Given the description of an element on the screen output the (x, y) to click on. 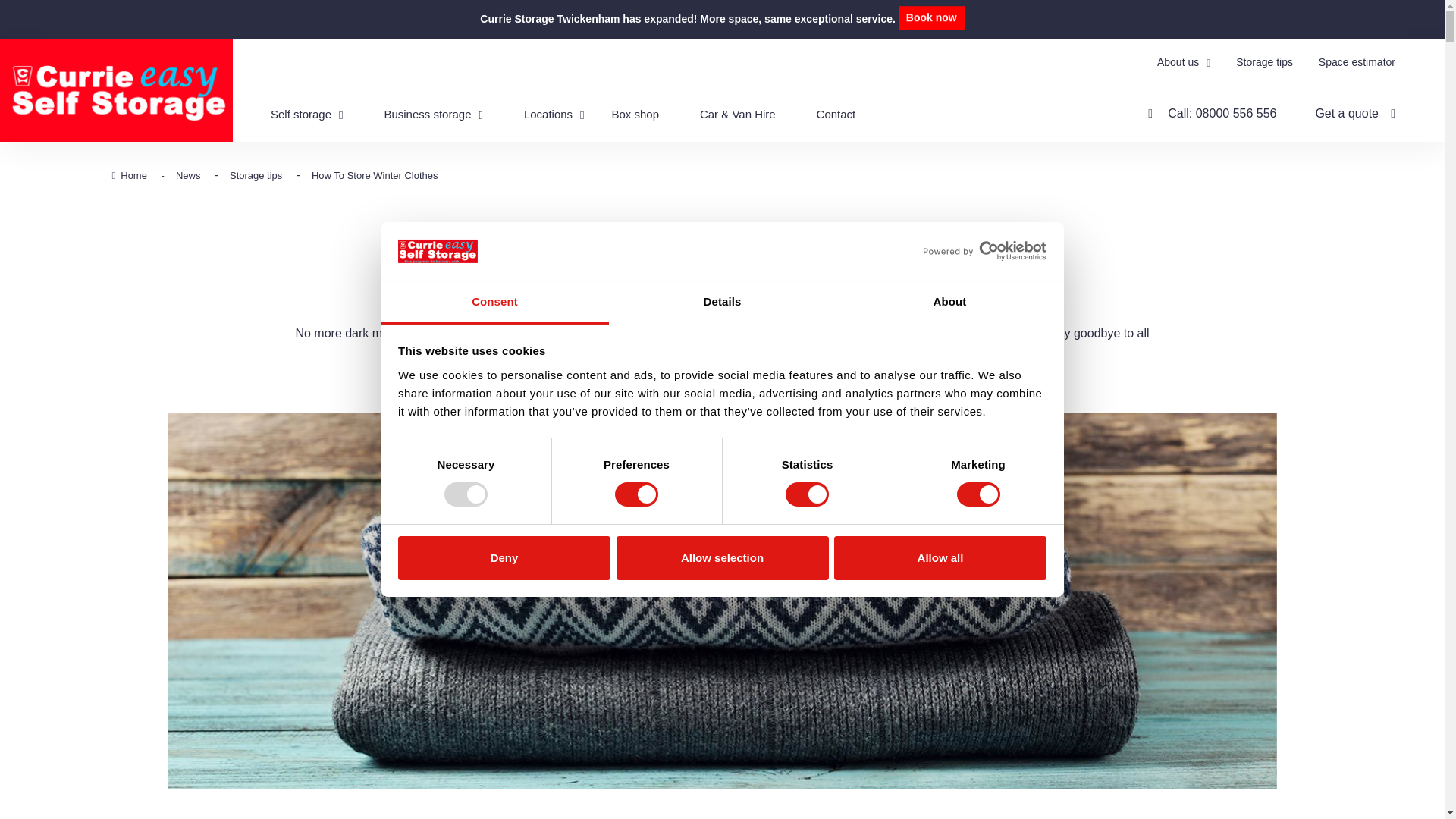
Deny (503, 557)
Allow all (940, 557)
Allow selection (721, 557)
Details (721, 302)
About (948, 302)
Consent (494, 302)
Get a quote (1354, 113)
Give us a call today - 08000 556 556 (1212, 113)
